Given the description of an element on the screen output the (x, y) to click on. 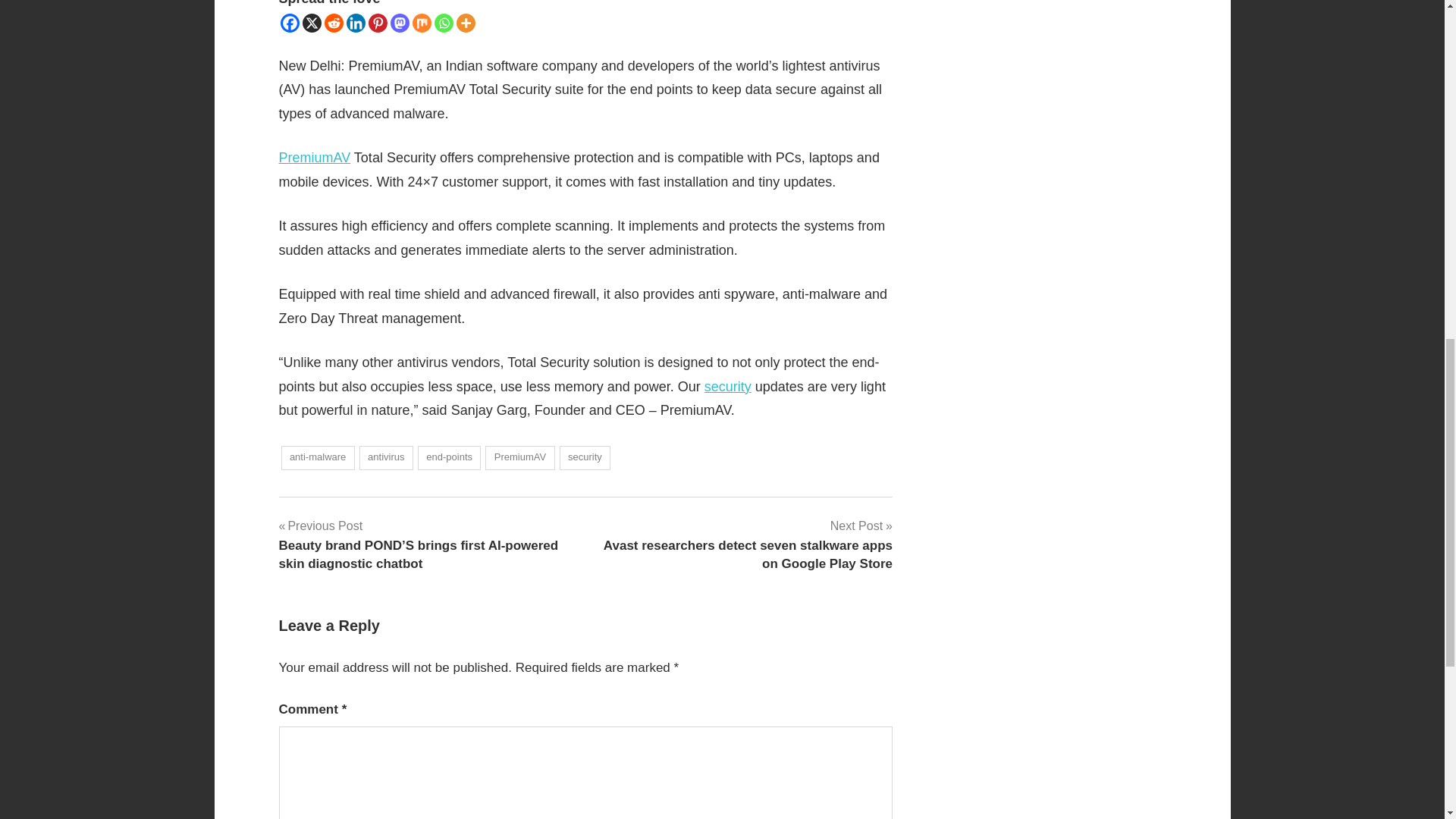
Mix (421, 22)
security (727, 386)
PremiumAV (314, 157)
Mastodon (399, 22)
Linkedin (355, 22)
anti-malware (317, 457)
More (466, 22)
X (310, 22)
Pinterest (377, 22)
